Given the description of an element on the screen output the (x, y) to click on. 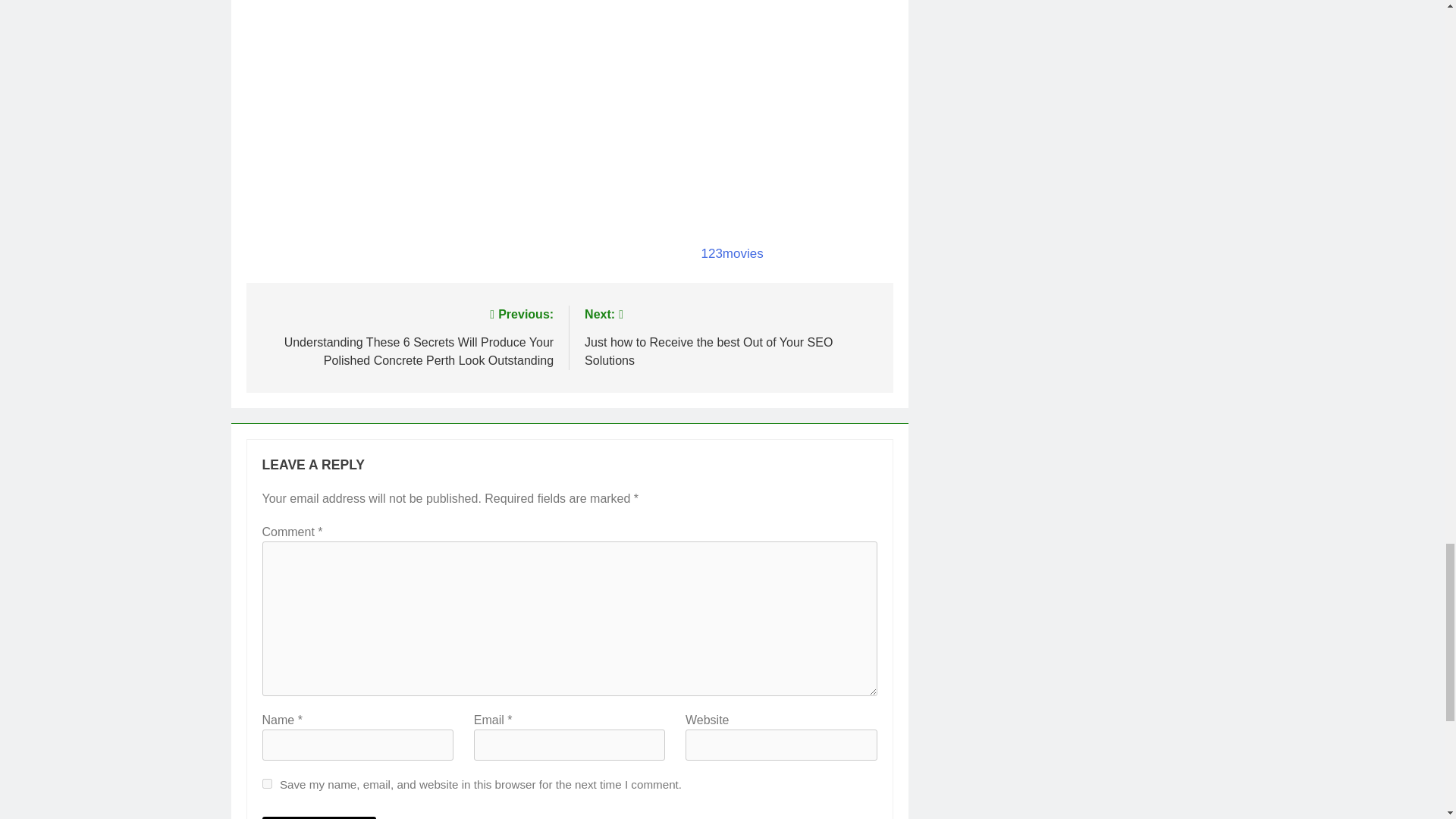
Post Comment (319, 817)
yes (267, 783)
